Given the description of an element on the screen output the (x, y) to click on. 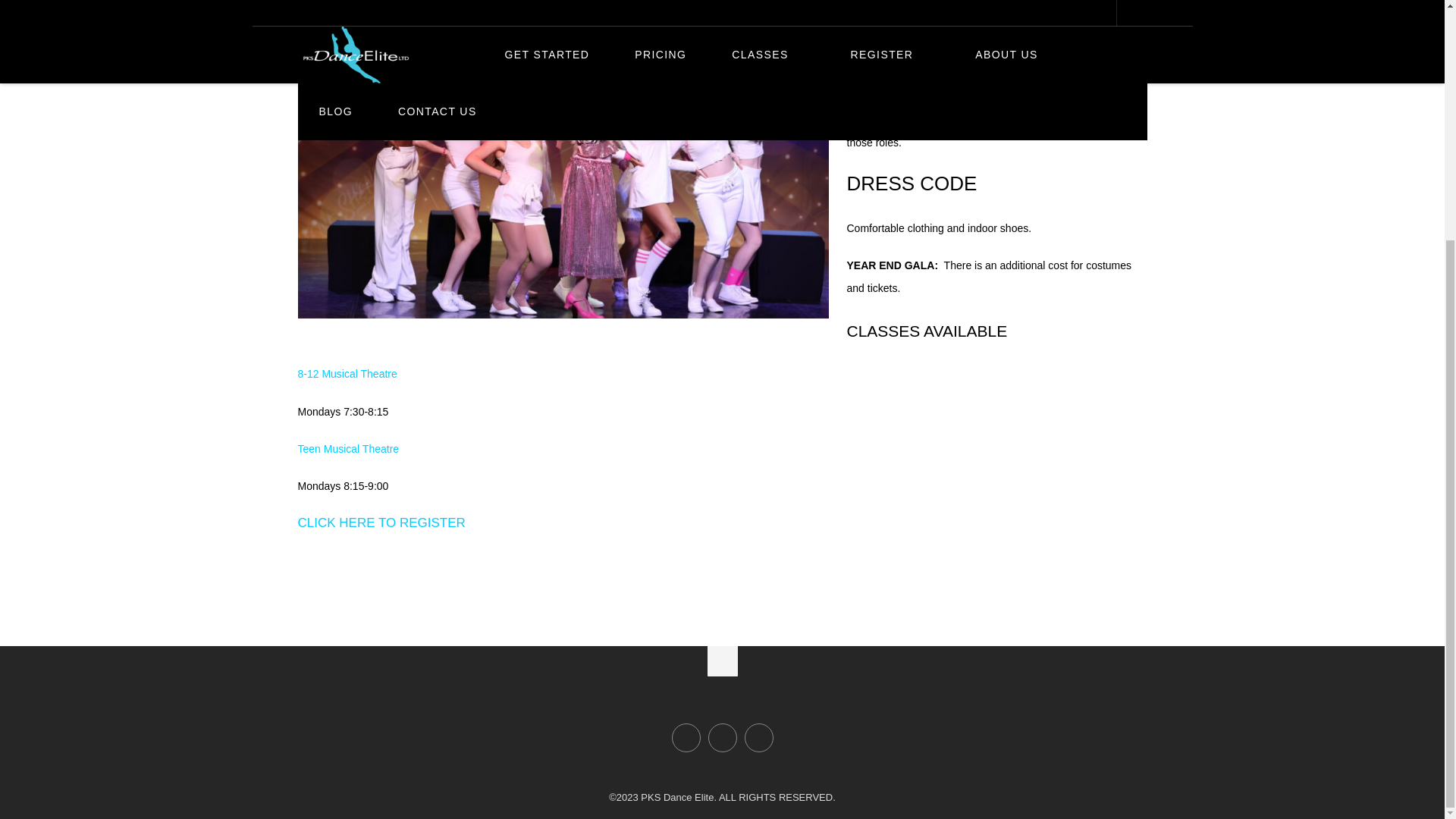
CLICK HERE TO REGISTER (380, 522)
Teen Musical Theatre (347, 449)
8-12 Musical Theatre (346, 373)
